Given the description of an element on the screen output the (x, y) to click on. 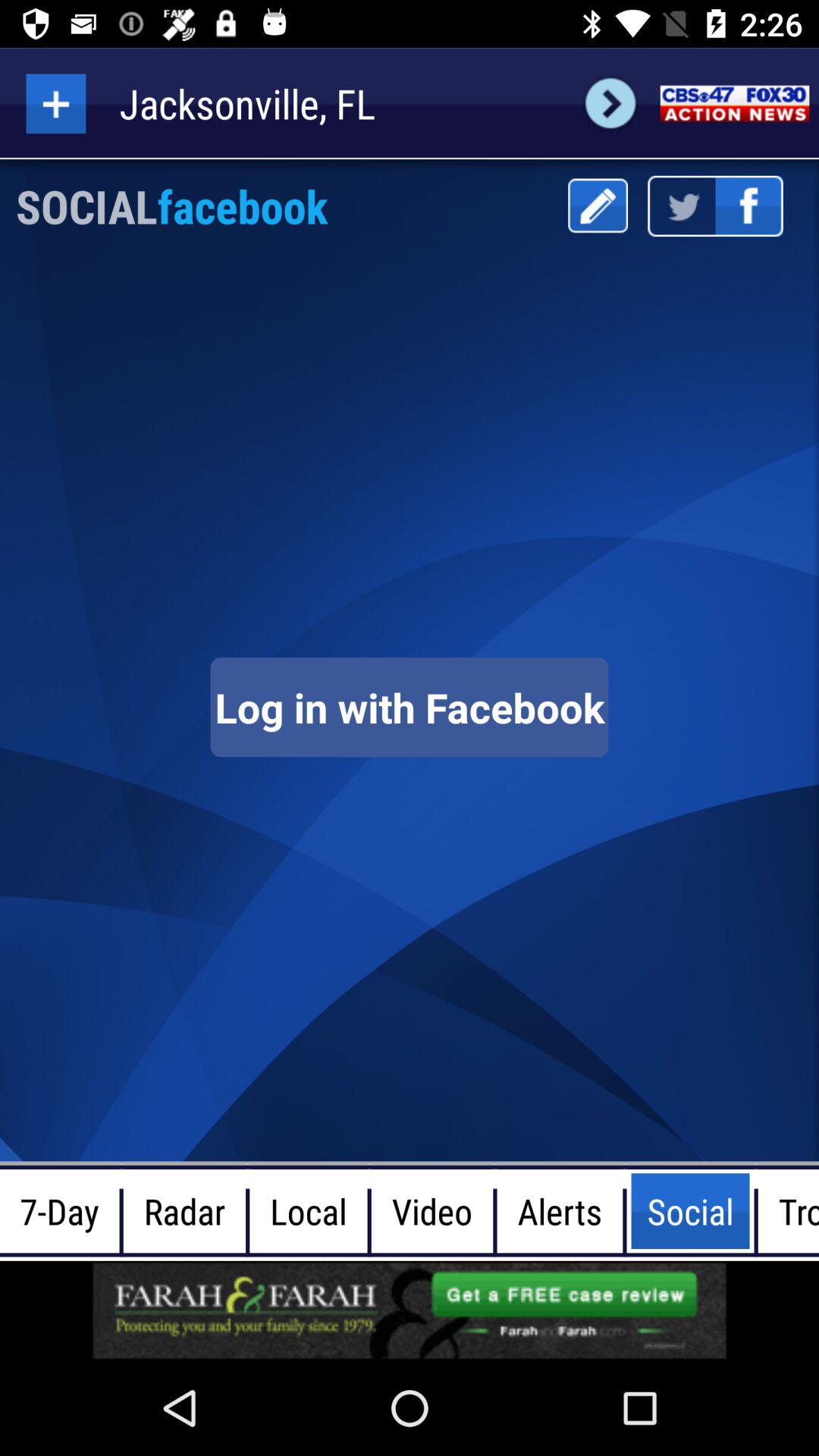
go to add button (55, 103)
